Given the description of an element on the screen output the (x, y) to click on. 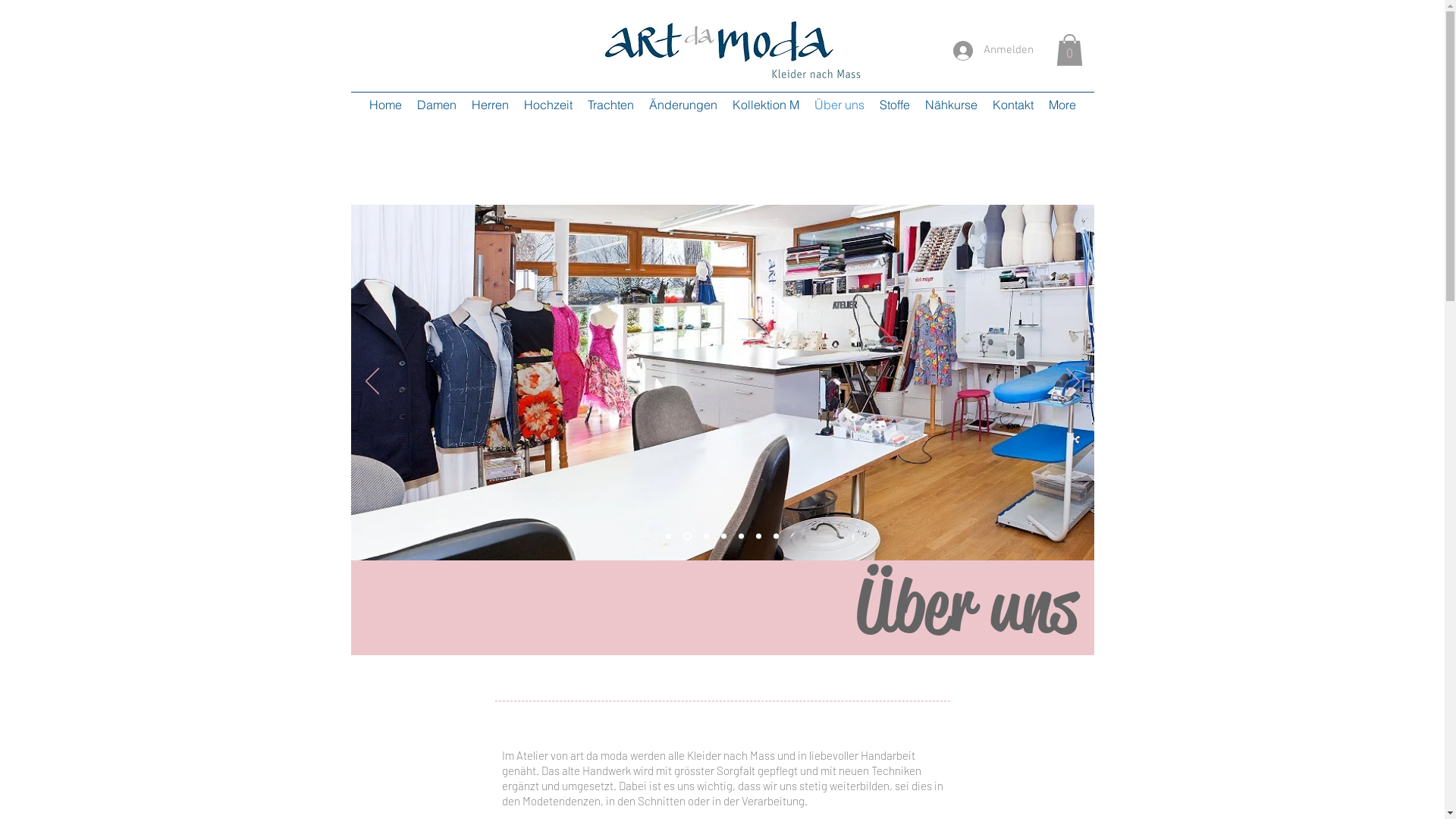
Trachten Element type: text (609, 104)
Anmelden Element type: text (986, 50)
0 Element type: text (1068, 49)
Home Element type: text (384, 104)
Kollektion M Element type: text (765, 104)
Hochzeit Element type: text (547, 104)
Damen Element type: text (436, 104)
Stoffe Element type: text (894, 104)
Kontakt Element type: text (1012, 104)
Logo_artdamoda_pantone.jpg Element type: hover (731, 50)
Herren Element type: text (490, 104)
